Given the description of an element on the screen output the (x, y) to click on. 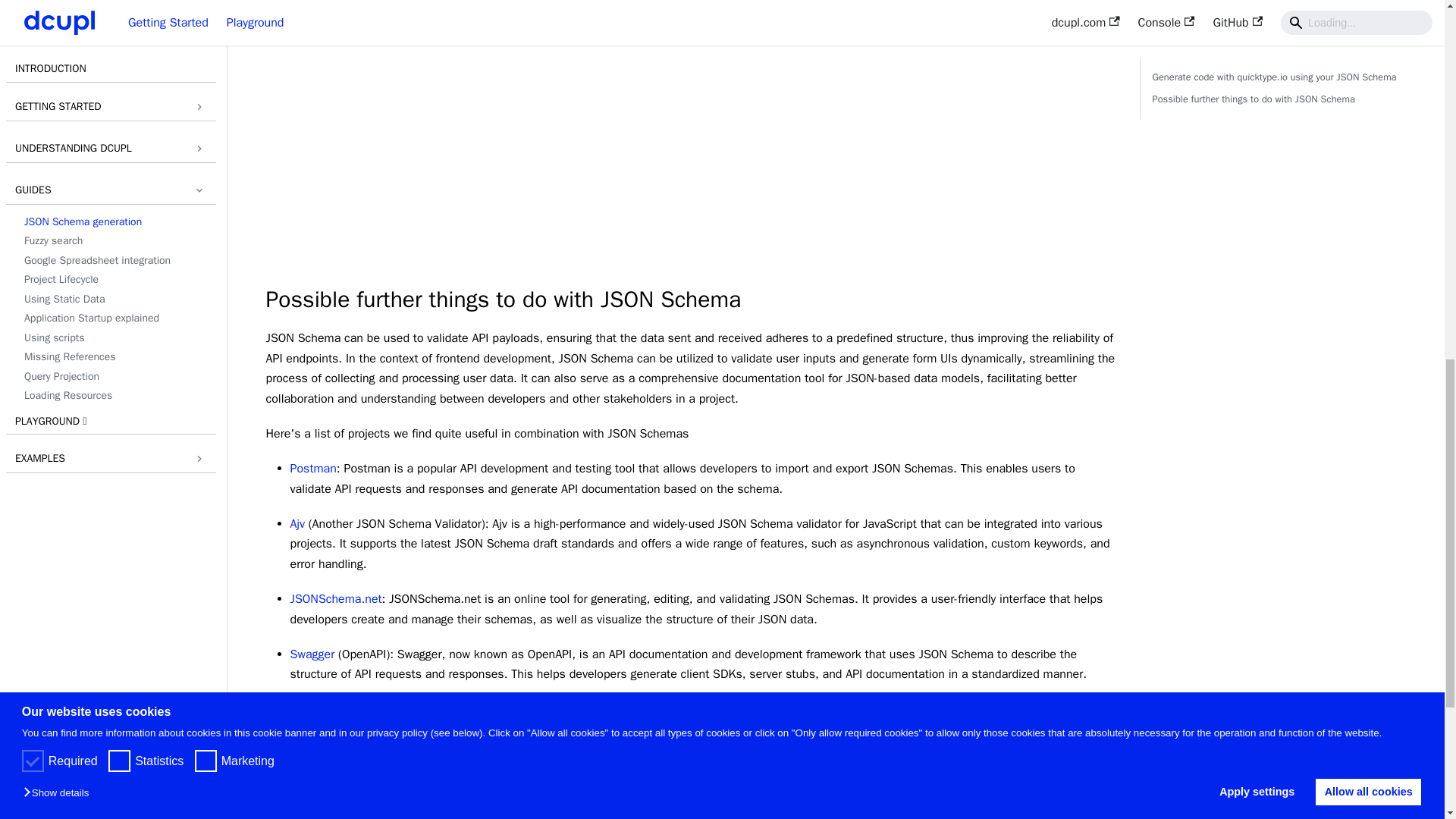
Postman (312, 468)
